Given the description of an element on the screen output the (x, y) to click on. 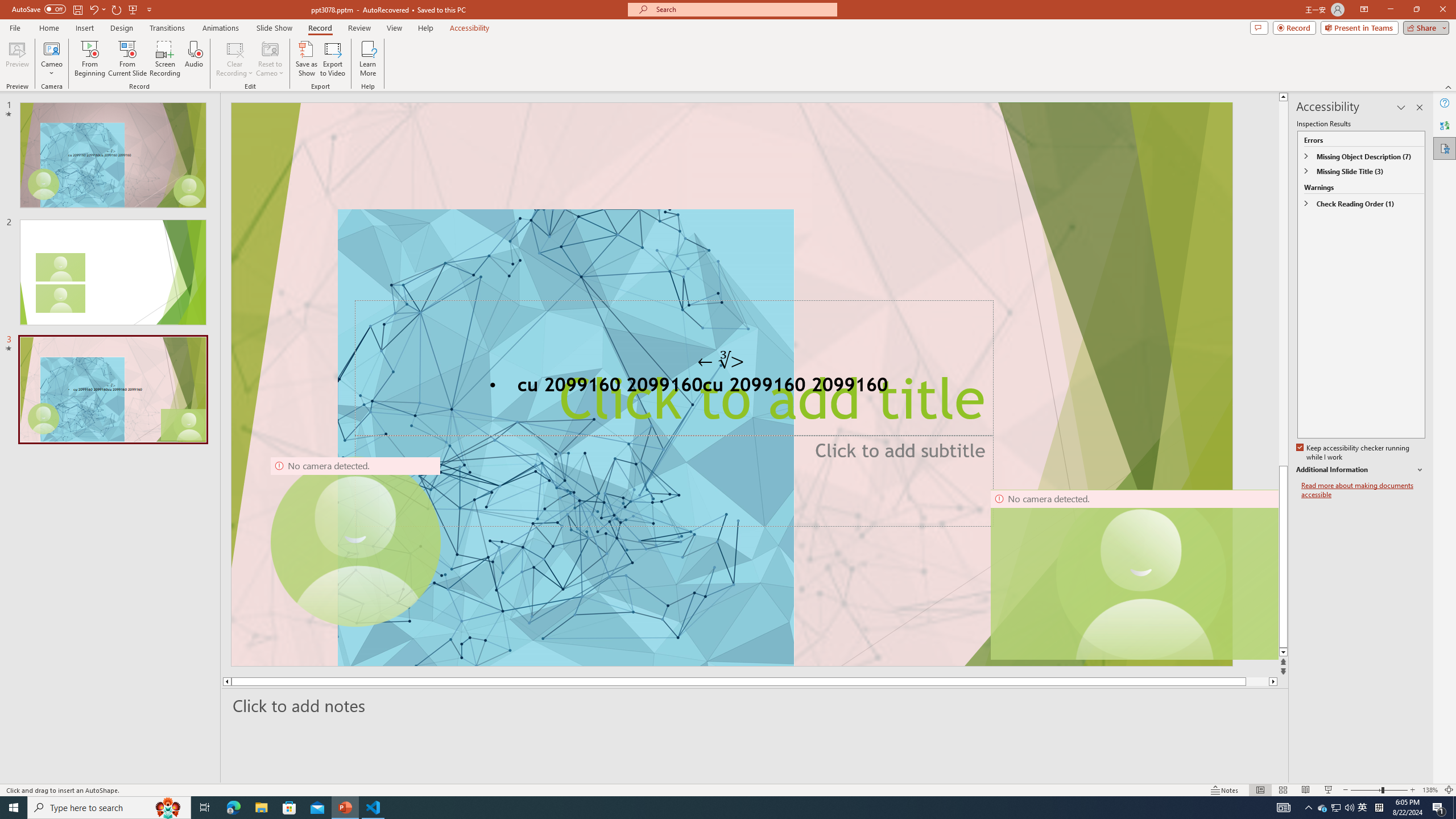
Camera 14, No camera detected. (1134, 574)
Clear Recording (234, 58)
Slide Notes (755, 705)
Save as Show (306, 58)
From Beginning... (89, 58)
Camera 11, No camera detected. (1141, 574)
Screen Recording (165, 58)
TextBox 7 (720, 360)
